Given the description of an element on the screen output the (x, y) to click on. 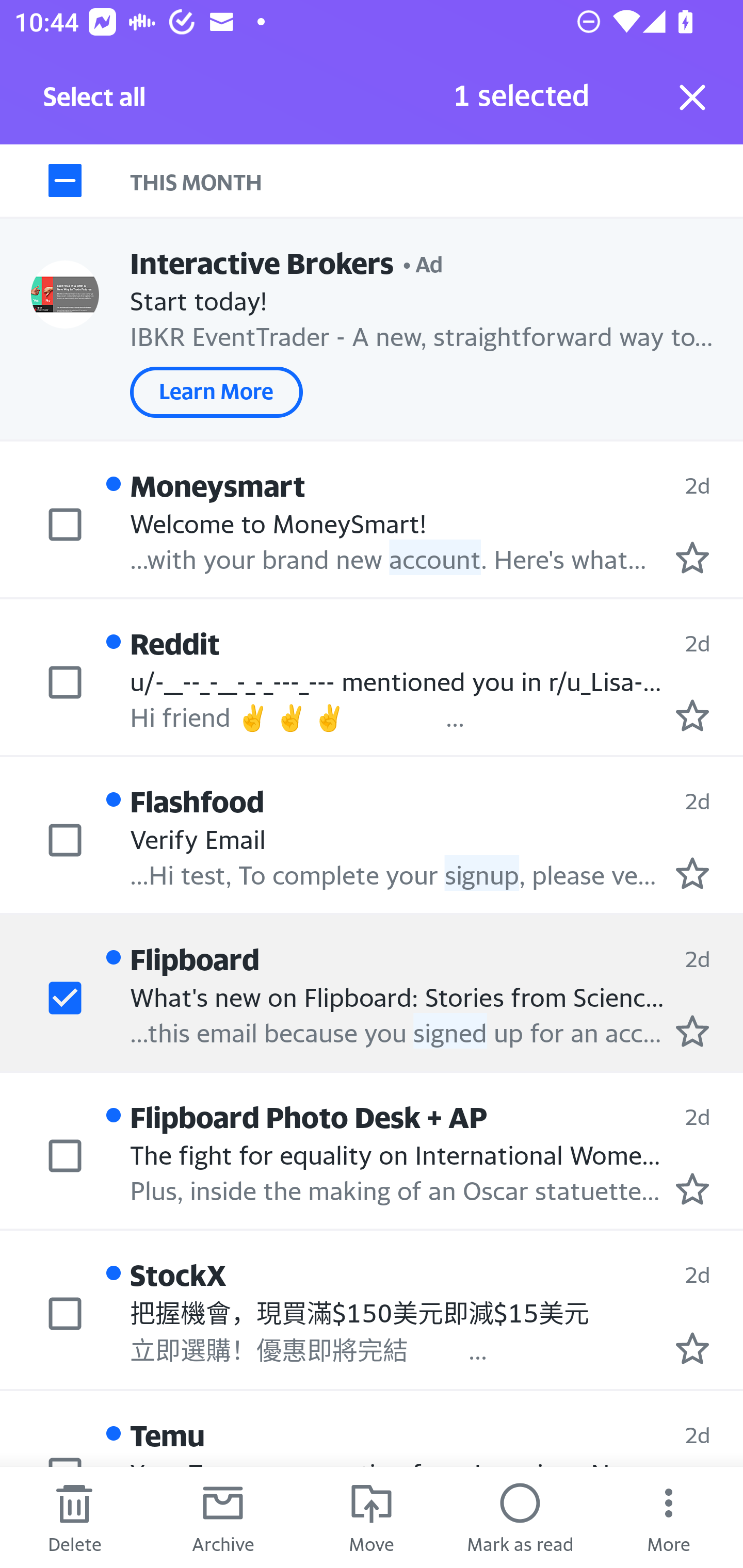
Exit selection mode (692, 97)
Select all (94, 101)
THIS MONTH (436, 180)
Mark as starred. (692, 557)
Mark as starred. (692, 715)
Mark as starred. (692, 872)
Mark as starred. (692, 1030)
Mark as starred. (692, 1189)
Mark as starred. (692, 1347)
Delete (74, 1517)
Archive (222, 1517)
Move (371, 1517)
Mark as read (519, 1517)
More (668, 1517)
